Given the description of an element on the screen output the (x, y) to click on. 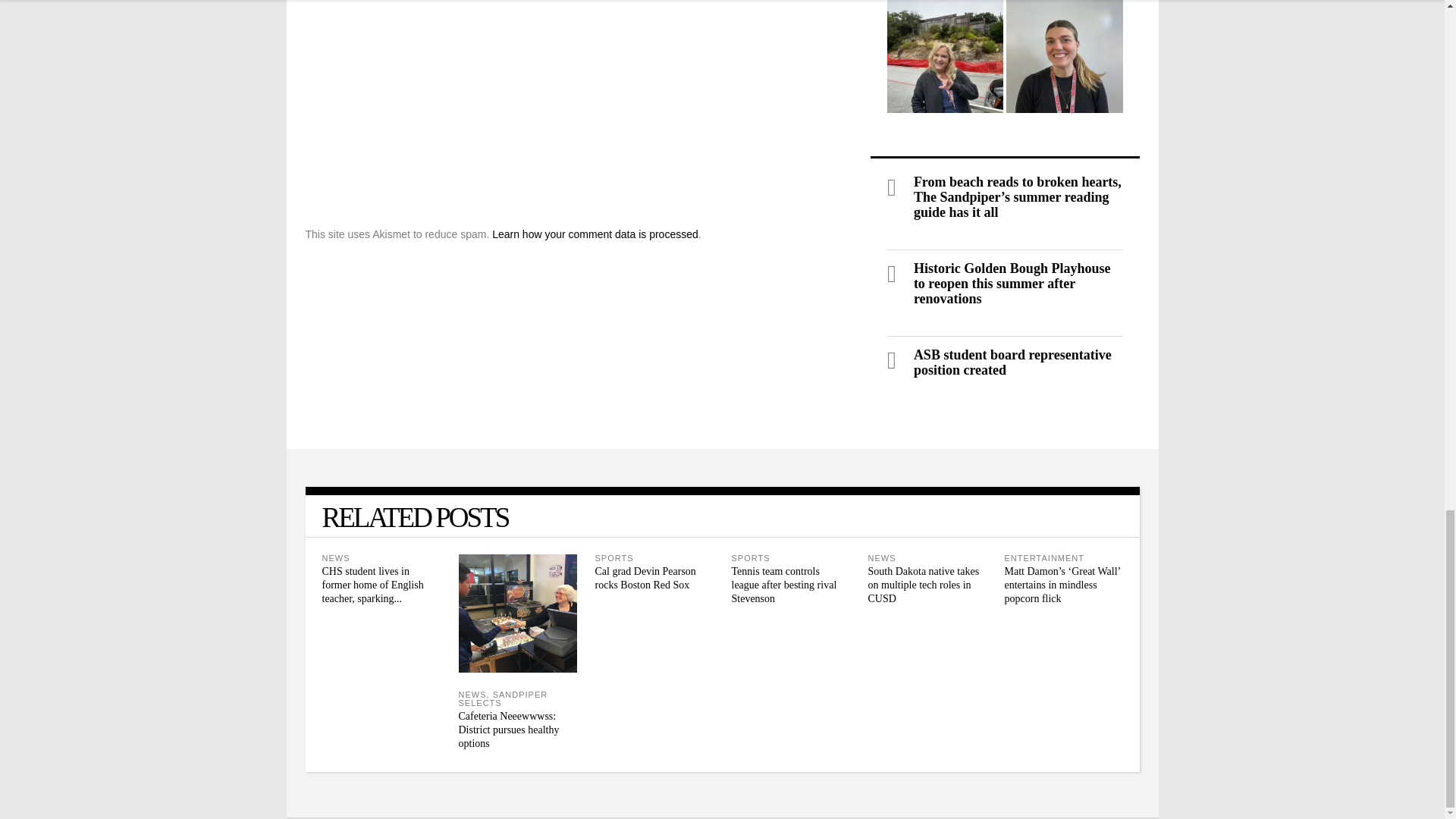
Comment Form (577, 110)
